Given the description of an element on the screen output the (x, y) to click on. 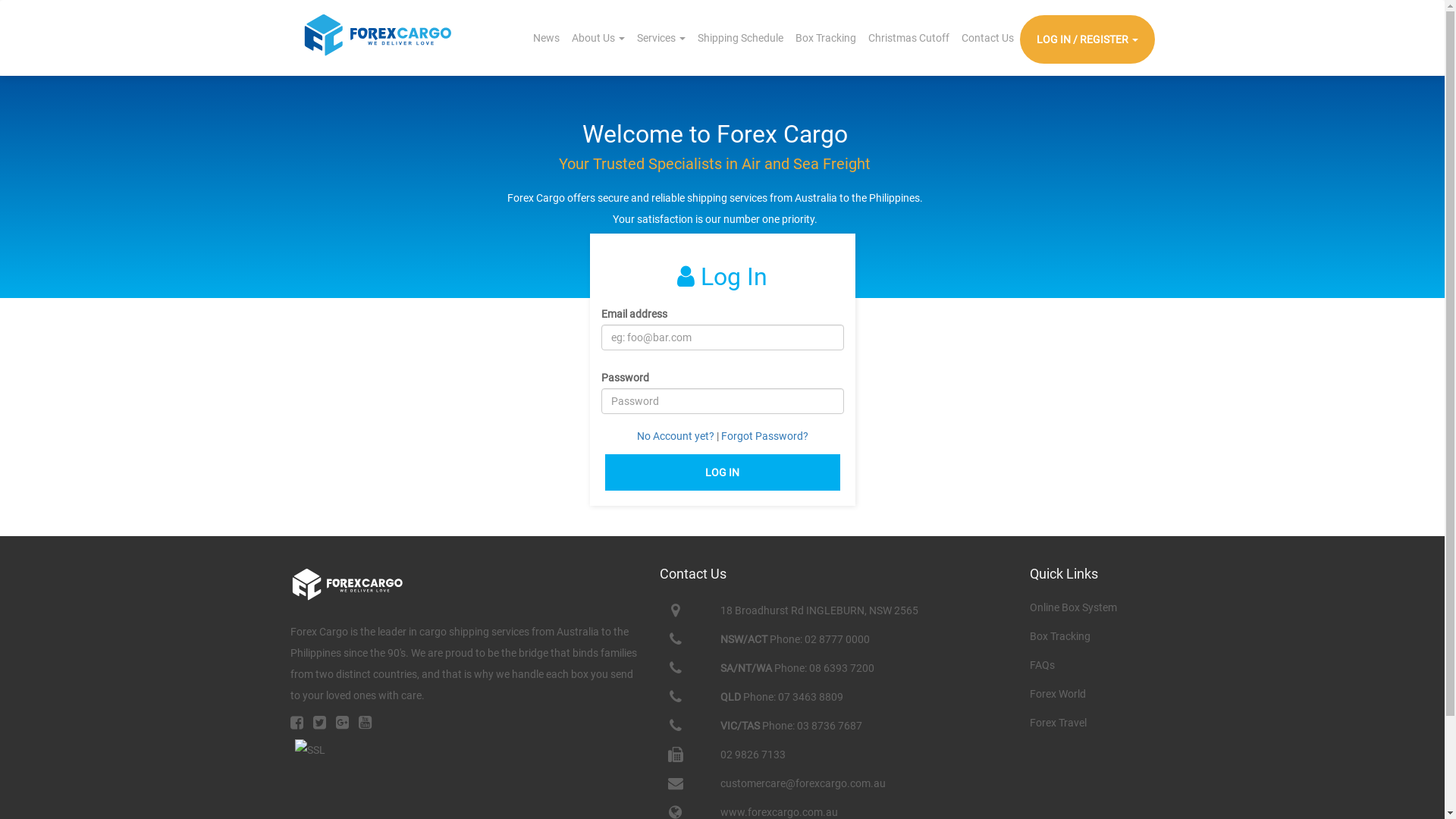
LOG IN Element type: text (722, 472)
Shipping Schedule Element type: text (740, 37)
Contact Us Element type: text (987, 37)
Forex World Element type: text (1057, 693)
Online Box System Element type: text (1073, 607)
LOG IN / REGISTER Element type: text (1086, 39)
News Element type: text (545, 37)
Services Element type: text (660, 37)
Box Tracking Element type: text (824, 37)
FAQs Element type: text (1041, 664)
Forex Travel Element type: text (1057, 722)
www.forexcargo.com.au Element type: text (778, 812)
About Us Element type: text (597, 37)
Forgot Password? Element type: text (763, 435)
GlobalSign Site Seal Element type: hover (309, 758)
No Account yet? Element type: text (676, 435)
Box Tracking Element type: text (1059, 636)
Christmas Cutoff Element type: text (907, 37)
